Given the description of an element on the screen output the (x, y) to click on. 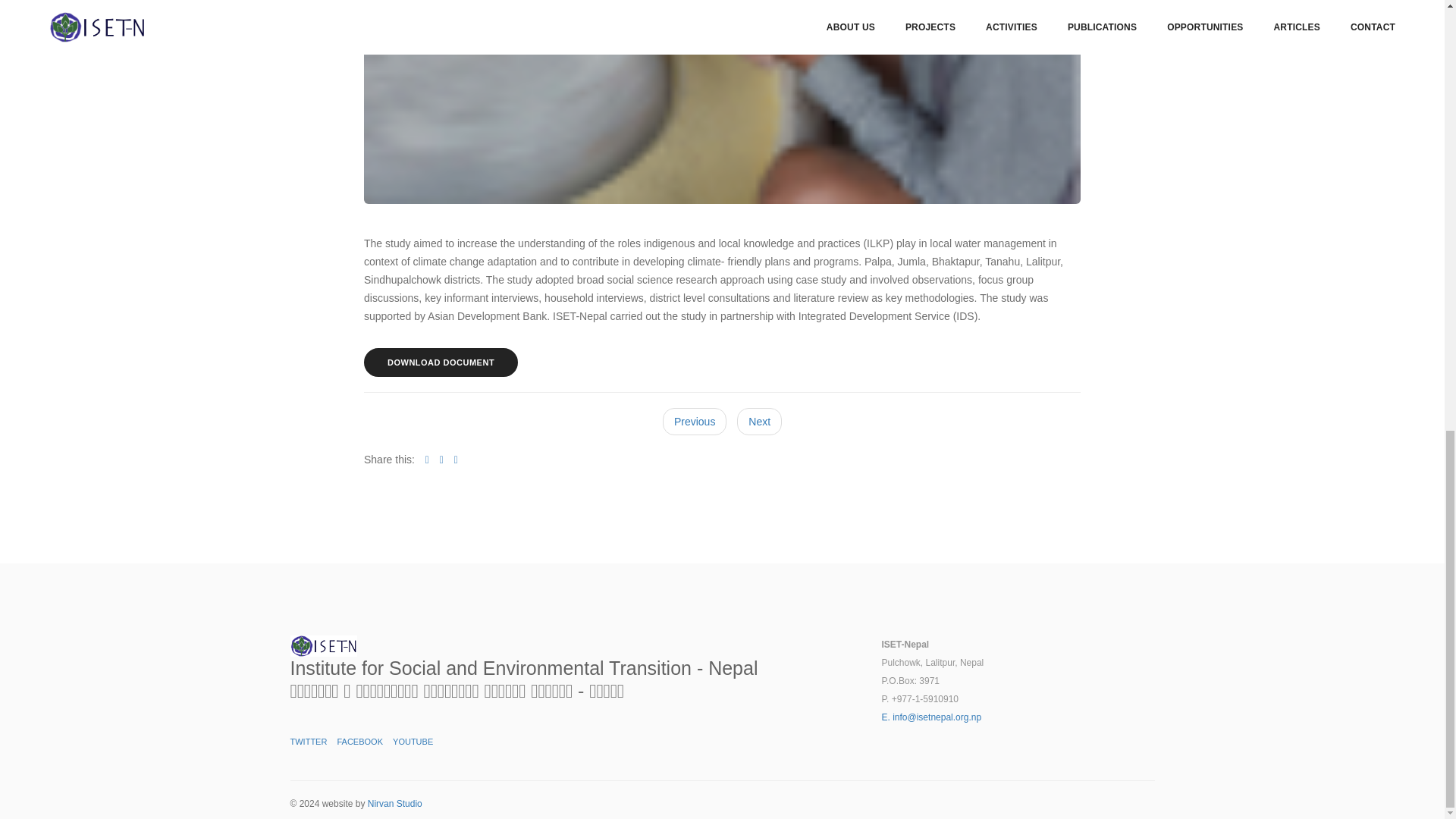
Youtube (412, 741)
YOUTUBE (412, 741)
Facebook (359, 741)
nirvan-studio (395, 803)
DOWNLOAD DOCUMENT (441, 362)
Previous (694, 420)
Next (758, 420)
FACEBOOK (359, 741)
Twitter (307, 741)
TWITTER (307, 741)
